Given the description of an element on the screen output the (x, y) to click on. 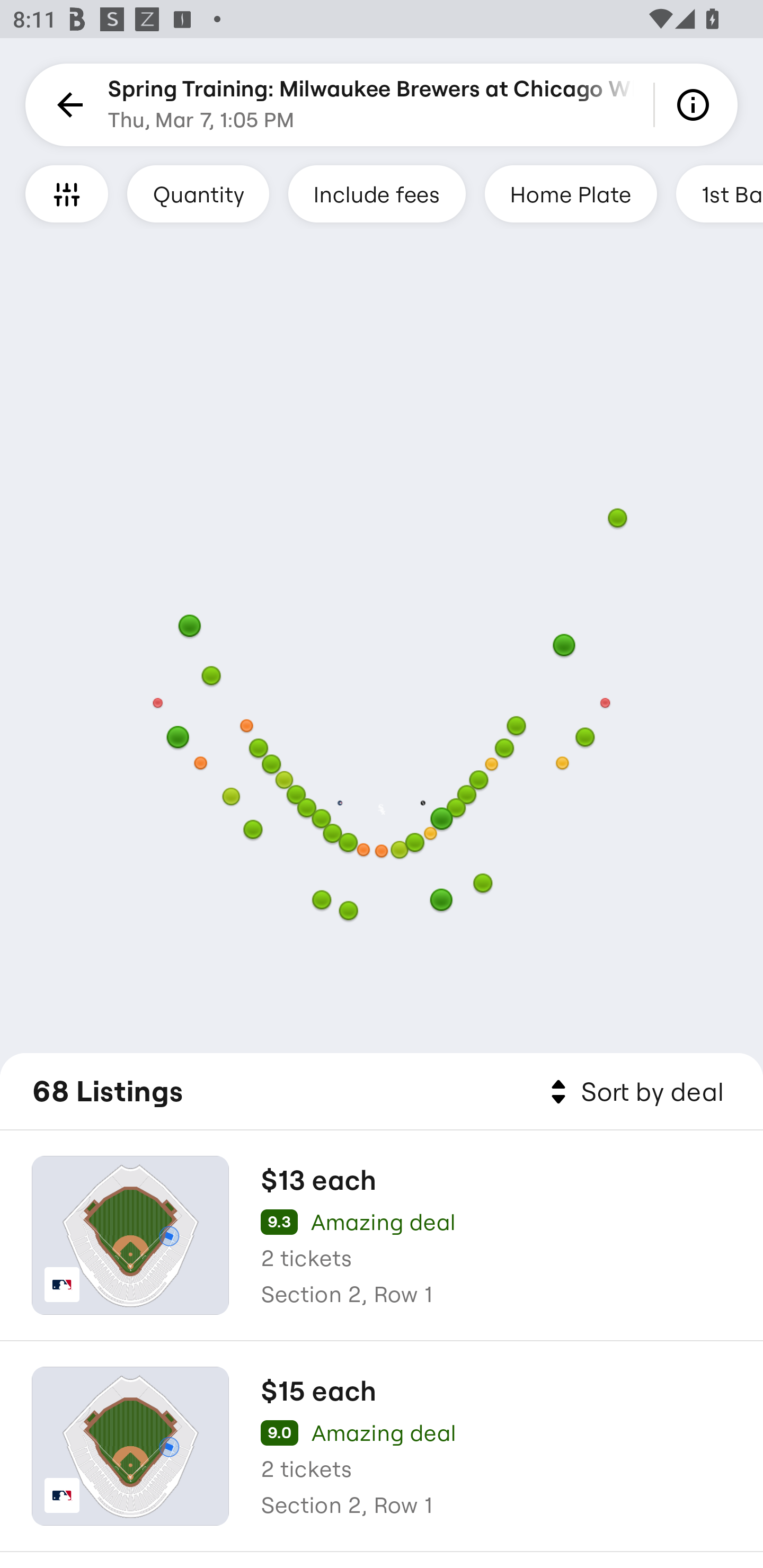
Back (66, 104)
Info (695, 104)
Filters and Accessible Seating (66, 193)
Quantity (198, 193)
Include fees (376, 193)
Home Plate (570, 193)
Sort by deal (633, 1091)
